Given the description of an element on the screen output the (x, y) to click on. 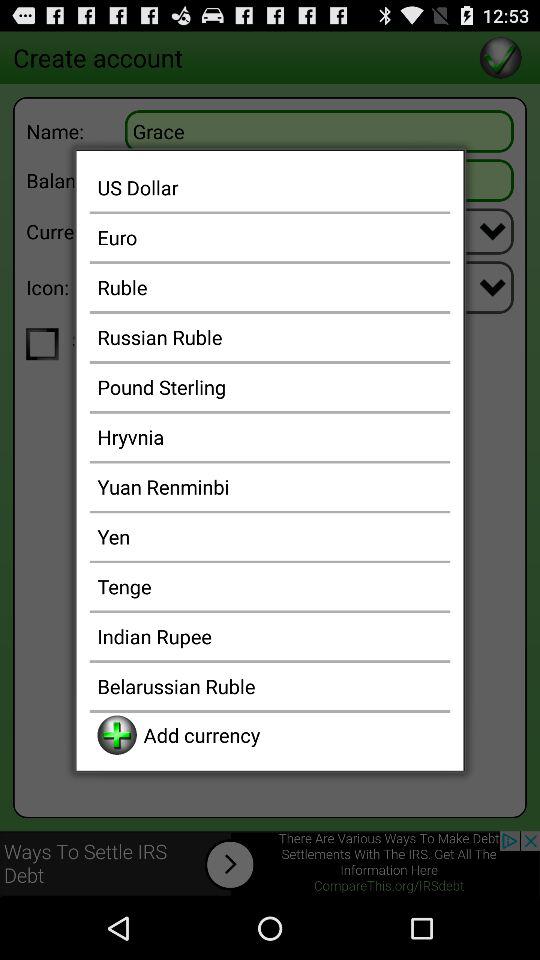
press the app above the ruble item (269, 237)
